Given the description of an element on the screen output the (x, y) to click on. 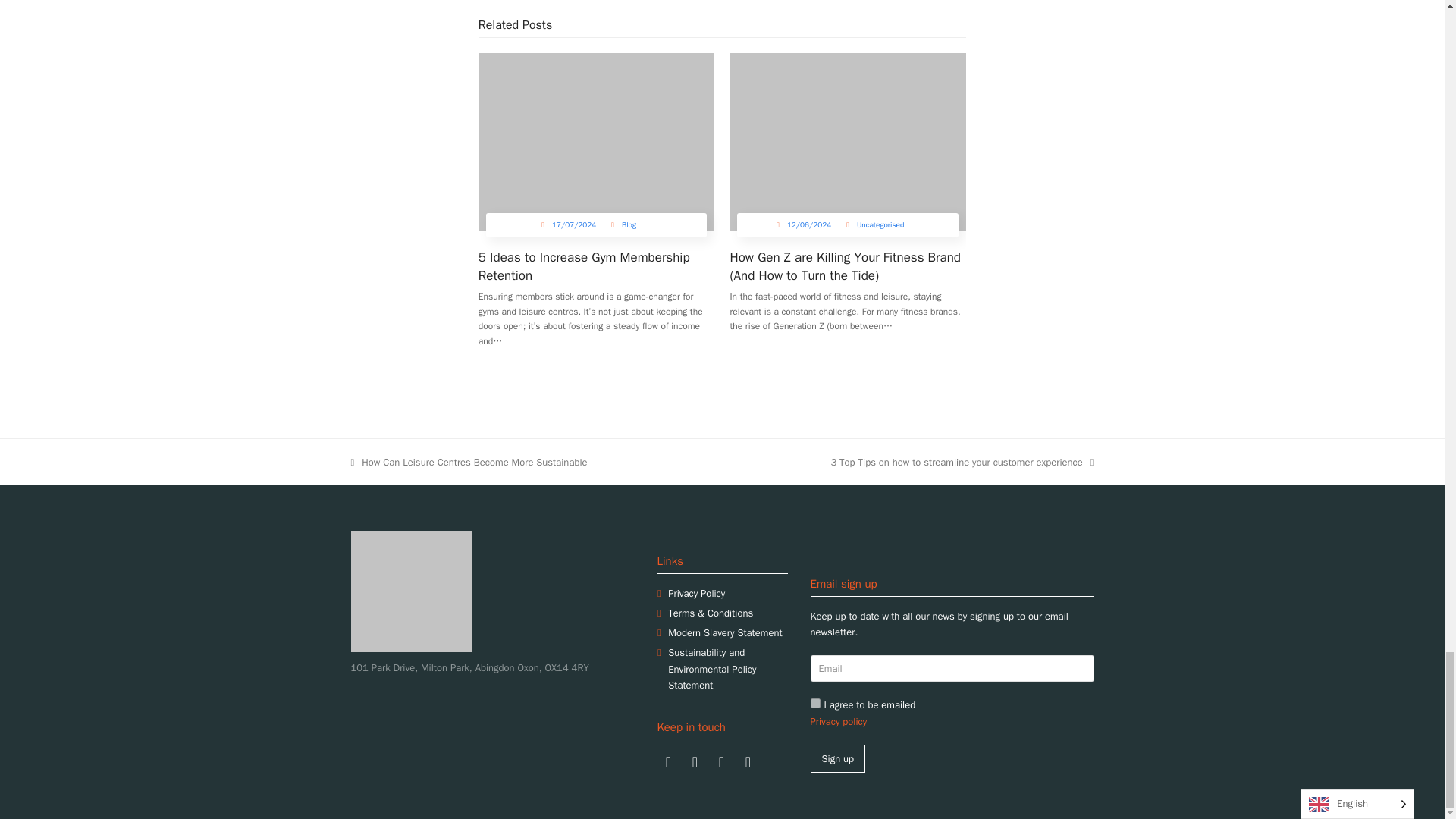
Instagram (695, 762)
LinkedIn (748, 762)
Twitter (721, 762)
Facebook (667, 762)
on (814, 703)
